Given the description of an element on the screen output the (x, y) to click on. 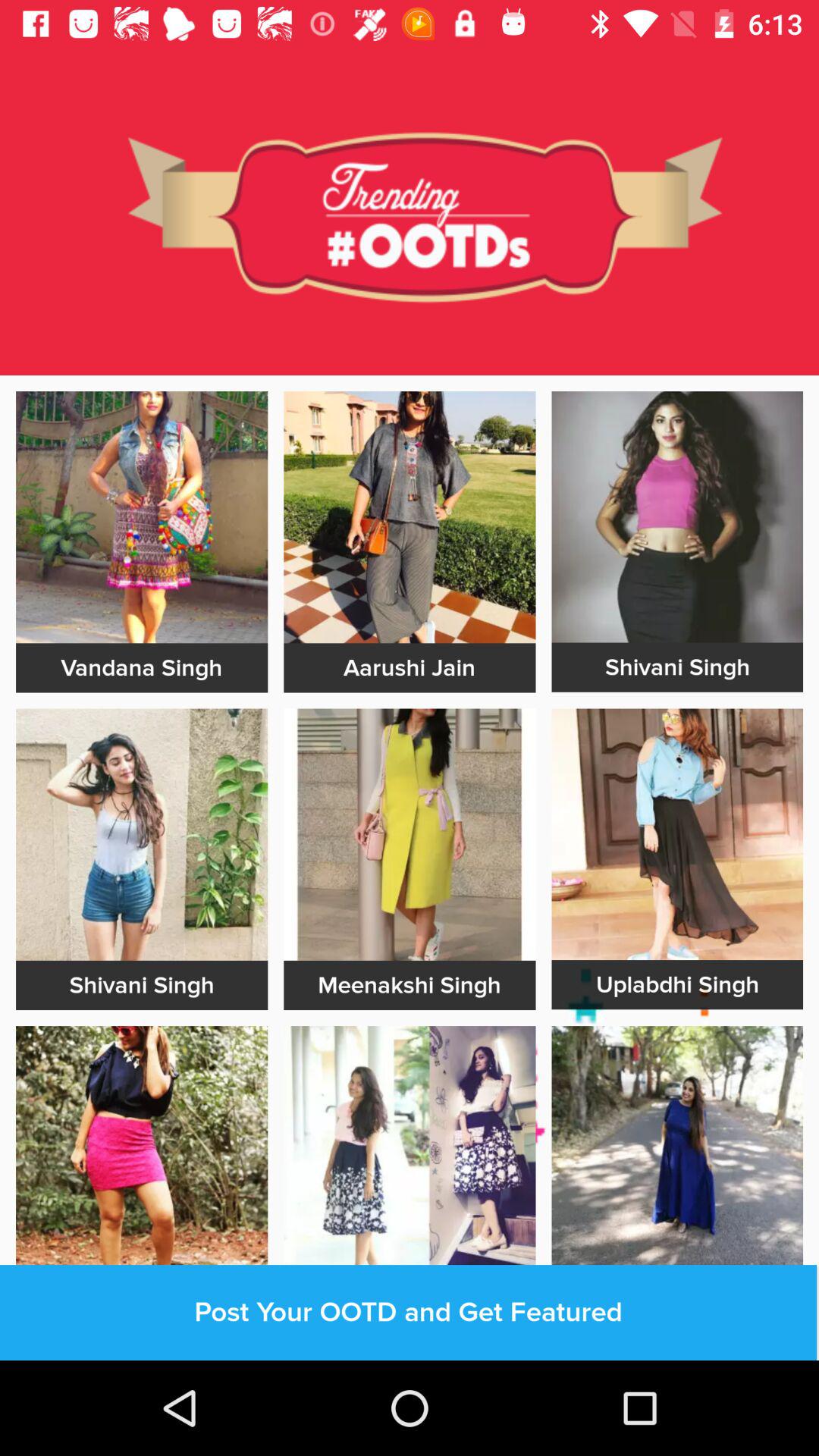
click on shivani singh (677, 668)
select the image with vandana singh (141, 517)
move to the last picture in the third row (677, 1152)
select the image with the text arushi jain (409, 517)
select the image above uplabdhi singh on the page (677, 834)
select the image meenakashi singh below the aarushi jain (409, 834)
